Given the description of an element on the screen output the (x, y) to click on. 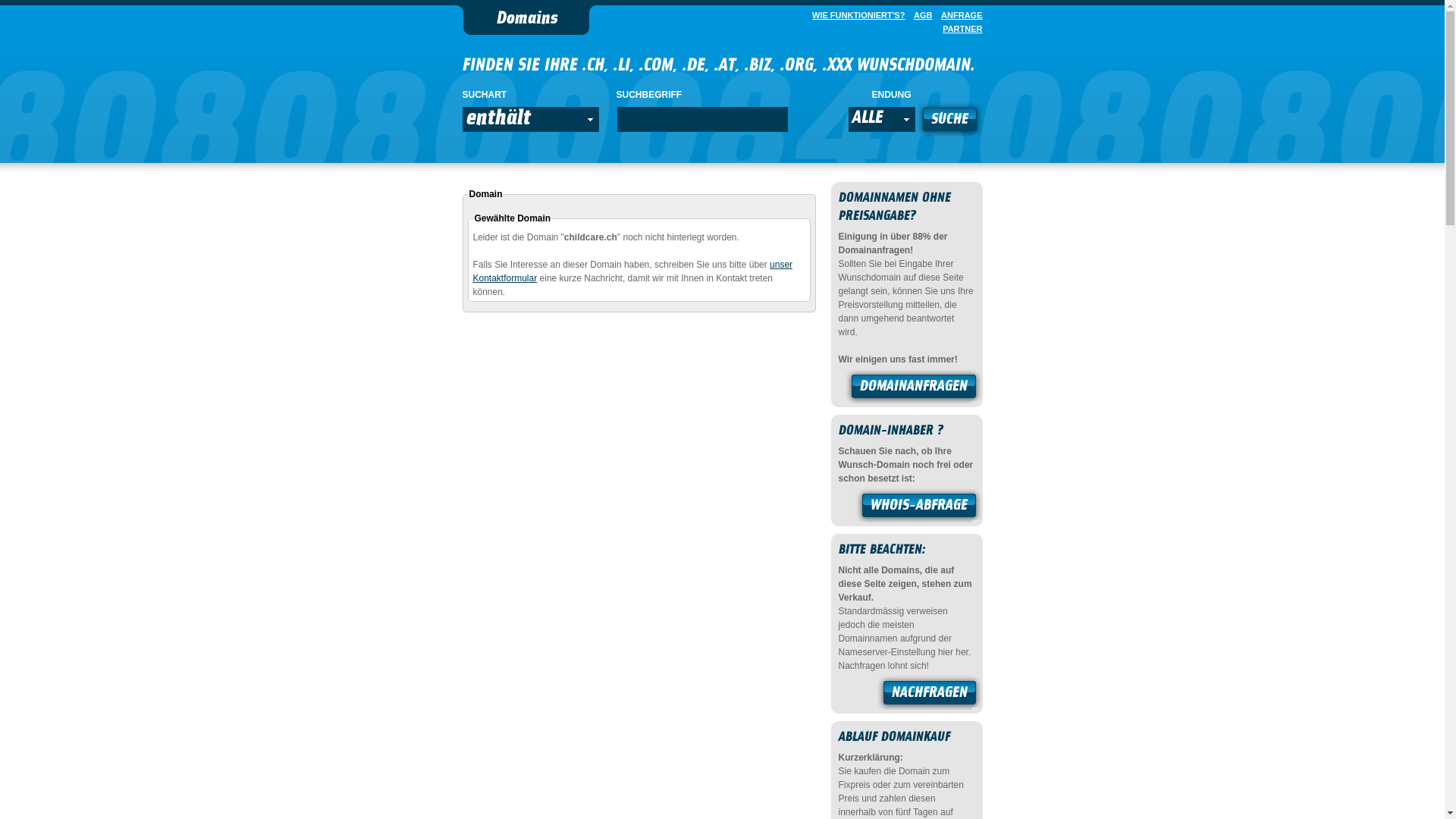
NACHFRAGEN Element type: text (929, 694)
SUCHE Element type: text (949, 121)
AGB Element type: text (919, 14)
PARTNER Element type: text (959, 28)
unser Kontaktformular Element type: text (633, 271)
WHOIS-ABFRAGE Element type: text (918, 507)
WIE FUNKTIONIERT'S? Element type: text (855, 14)
DOMAINANFRAGEN Element type: text (913, 387)
ANFRAGE Element type: text (958, 14)
Domains Element type: text (526, 19)
